Given the description of an element on the screen output the (x, y) to click on. 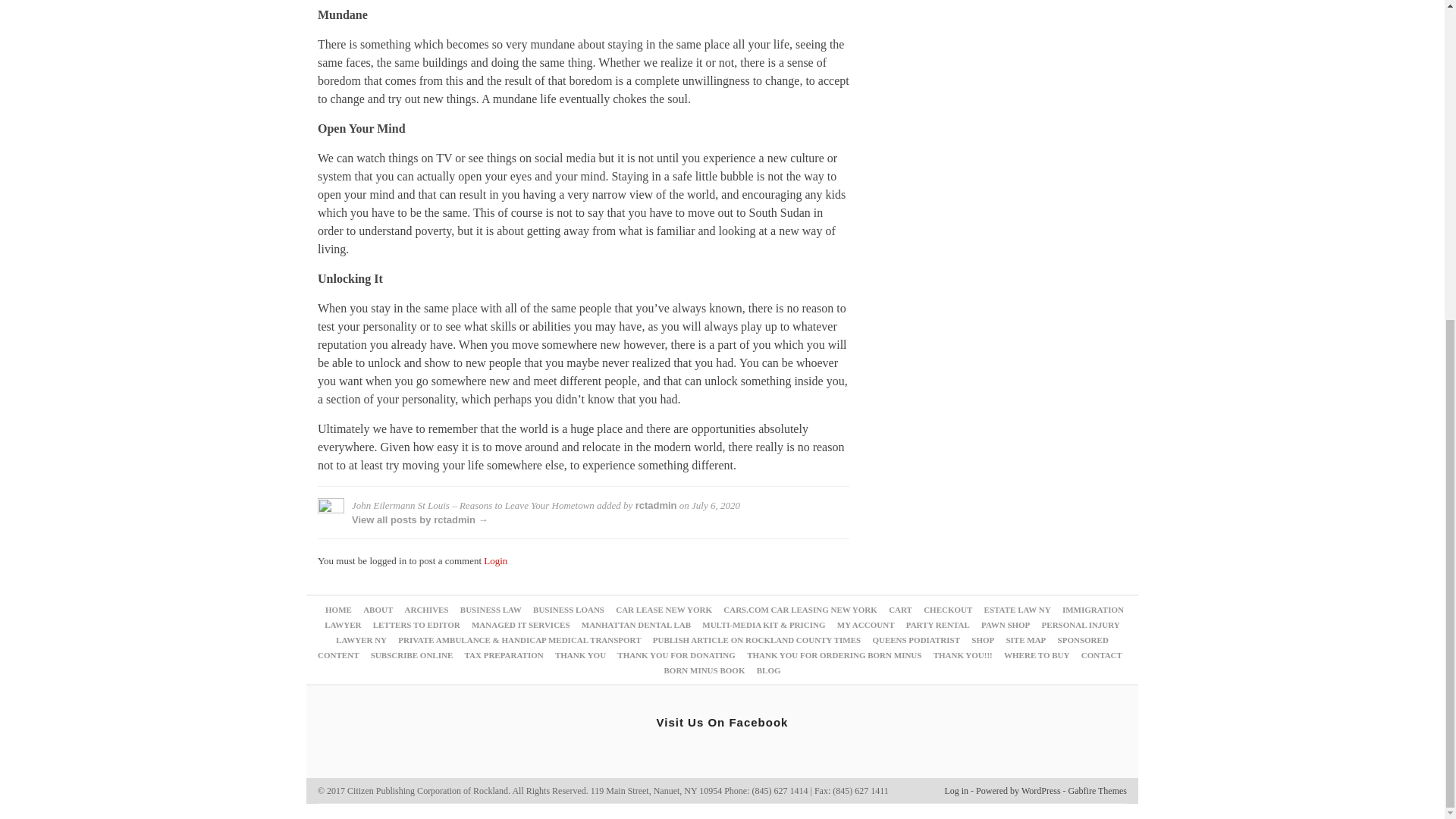
rctadmin (655, 505)
WordPress Newspaper Themes (1097, 790)
Semantic Personal Publishing Platform (1017, 790)
